Given the description of an element on the screen output the (x, y) to click on. 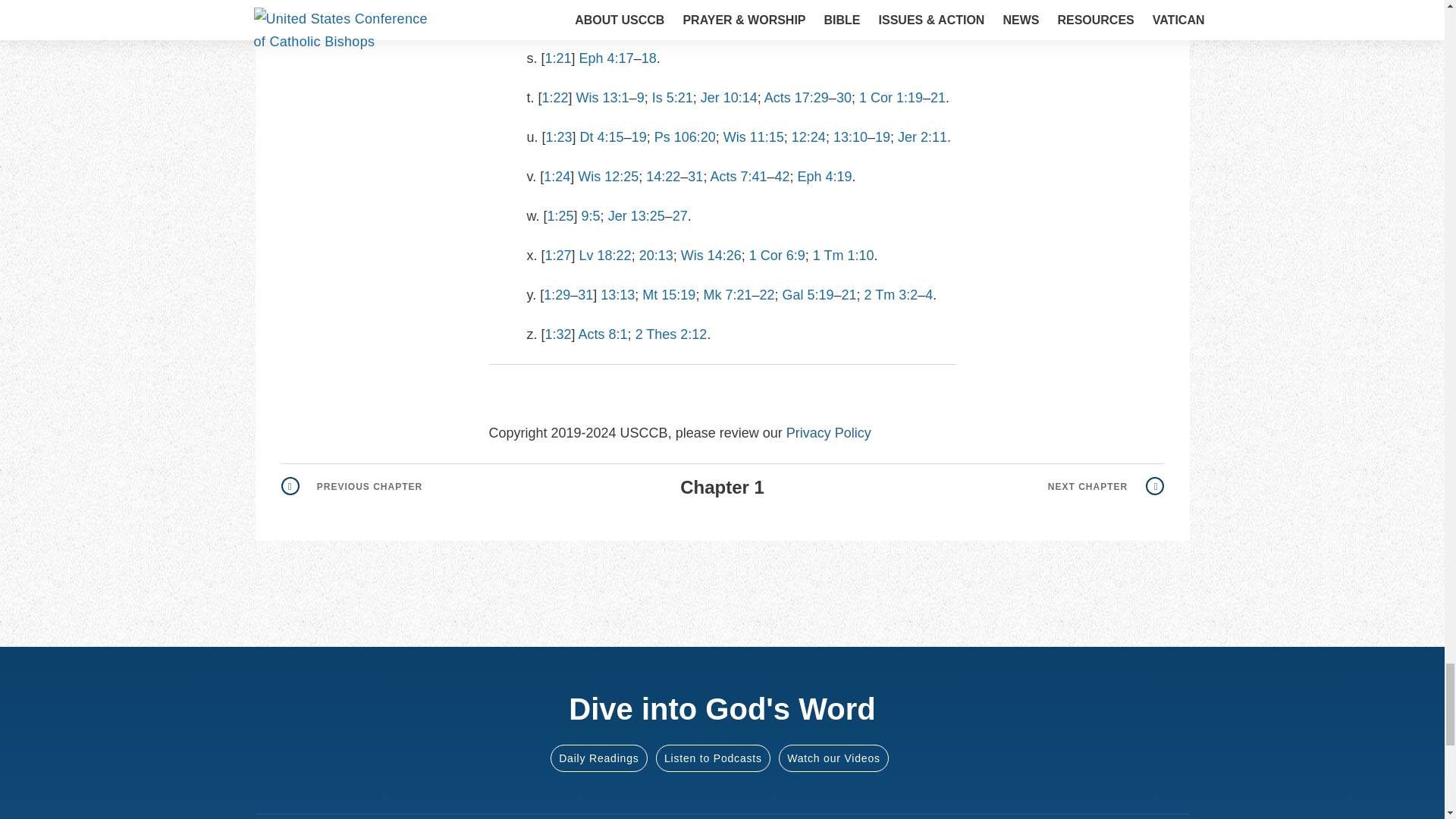
Go to next page (1105, 486)
Go to previous page (351, 486)
